Given the description of an element on the screen output the (x, y) to click on. 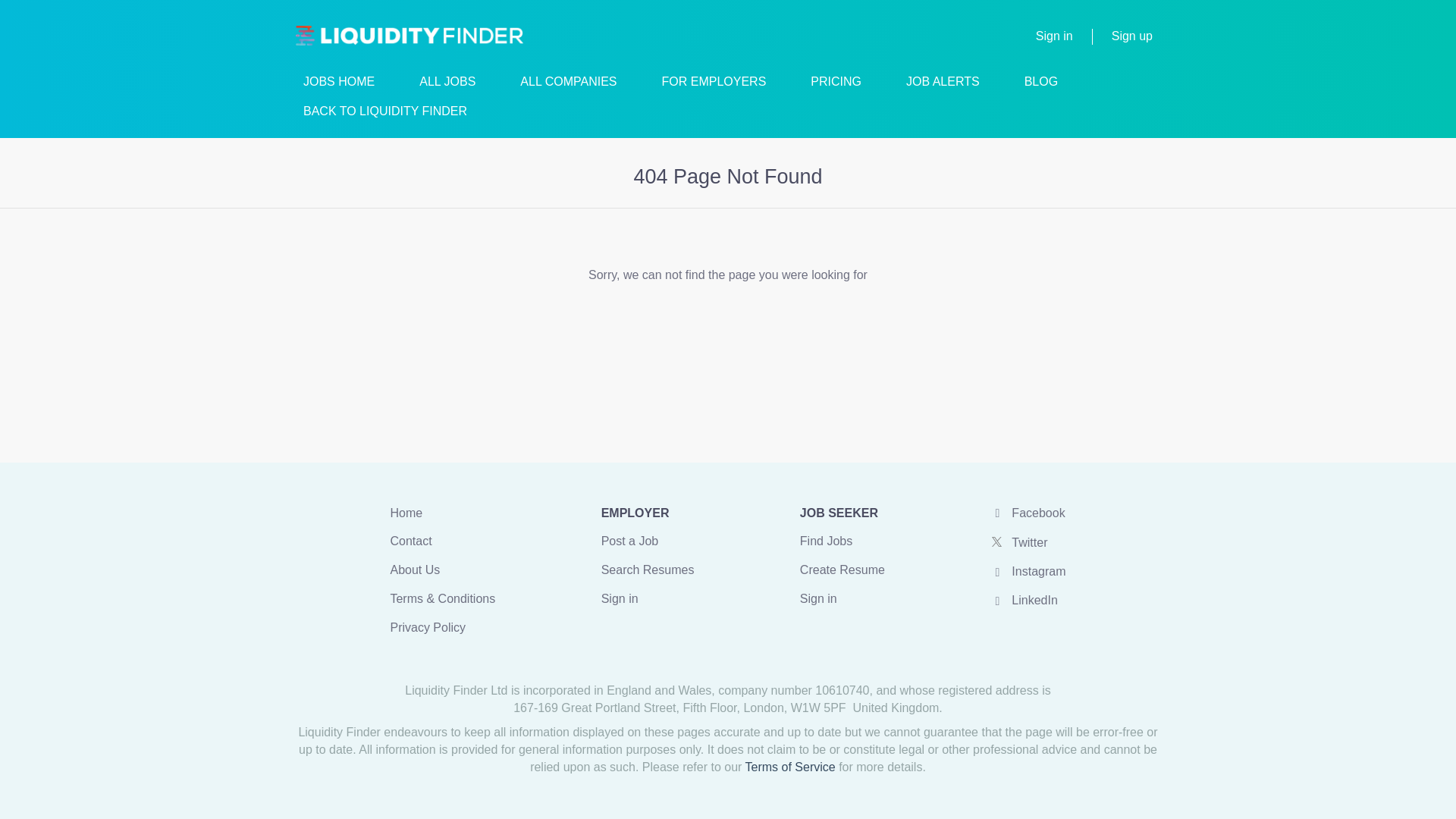
Post a Job (630, 540)
Terms of Service (790, 766)
Twitter (1018, 542)
About Us (414, 569)
Sign in (818, 598)
JOBS HOME (338, 84)
Contact (410, 540)
Facebook (1027, 512)
Privacy Policy (427, 626)
ALL JOBS (447, 84)
